Given the description of an element on the screen output the (x, y) to click on. 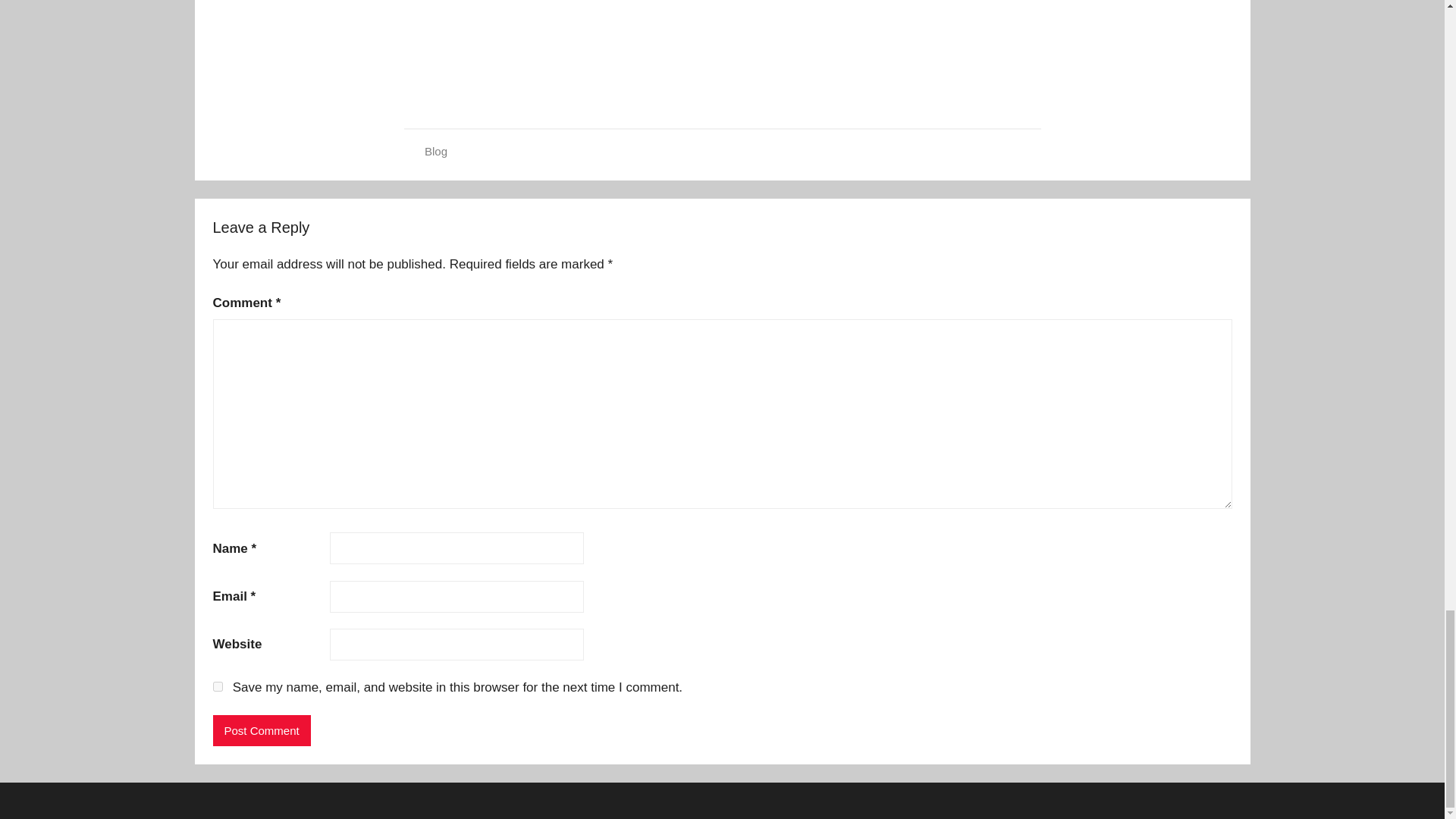
Post Comment (261, 730)
Post Comment (261, 730)
yes (217, 686)
Blog (435, 151)
